Given the description of an element on the screen output the (x, y) to click on. 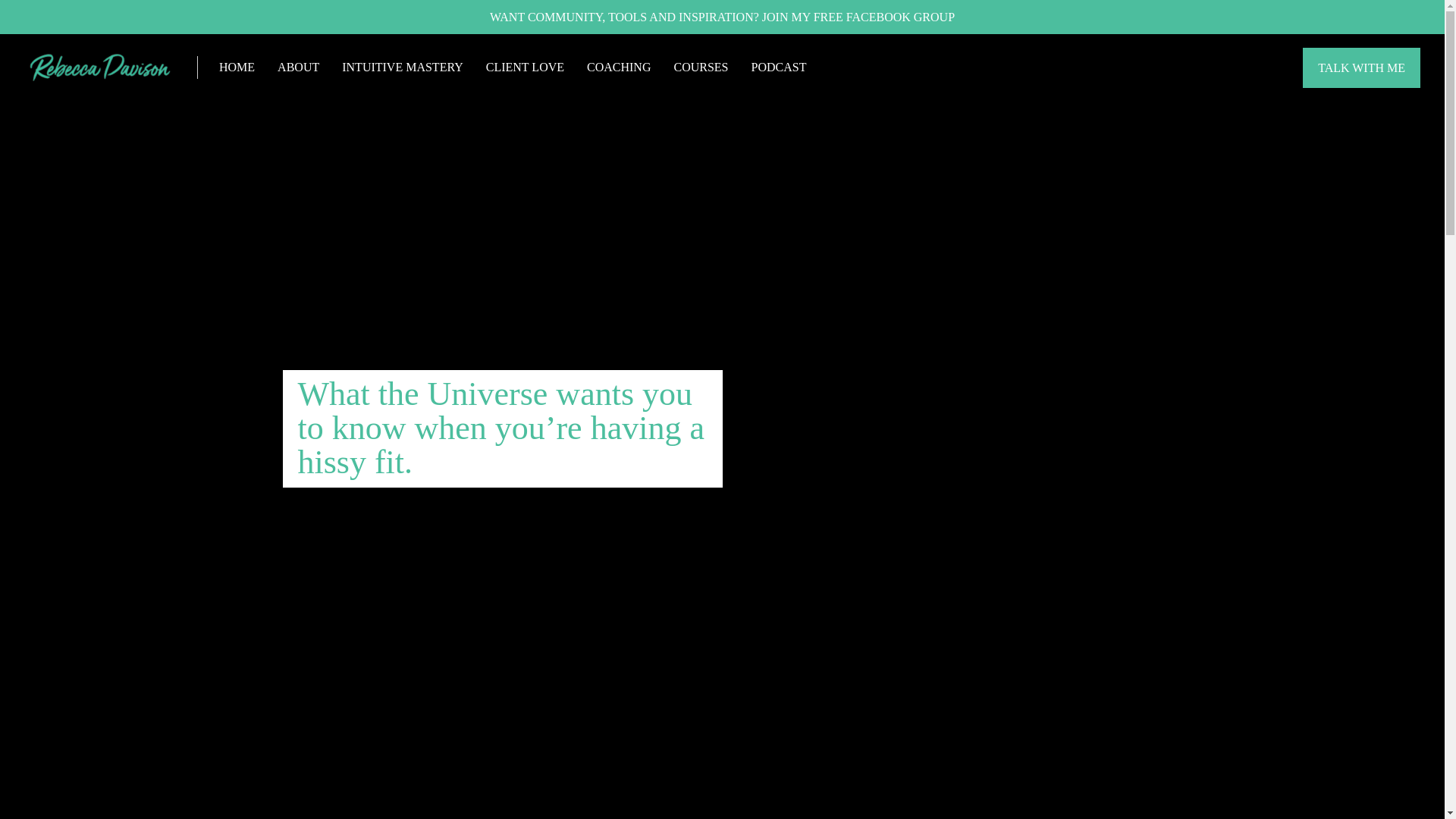
cropped-logo-2-1.png (100, 67)
INTUITIVE MASTERY (402, 66)
COURSES (700, 66)
ABOUT (298, 66)
PODCAST (778, 66)
COACHING (618, 66)
TALK WITH ME (1362, 67)
CLIENT LOVE (525, 66)
